Given the description of an element on the screen output the (x, y) to click on. 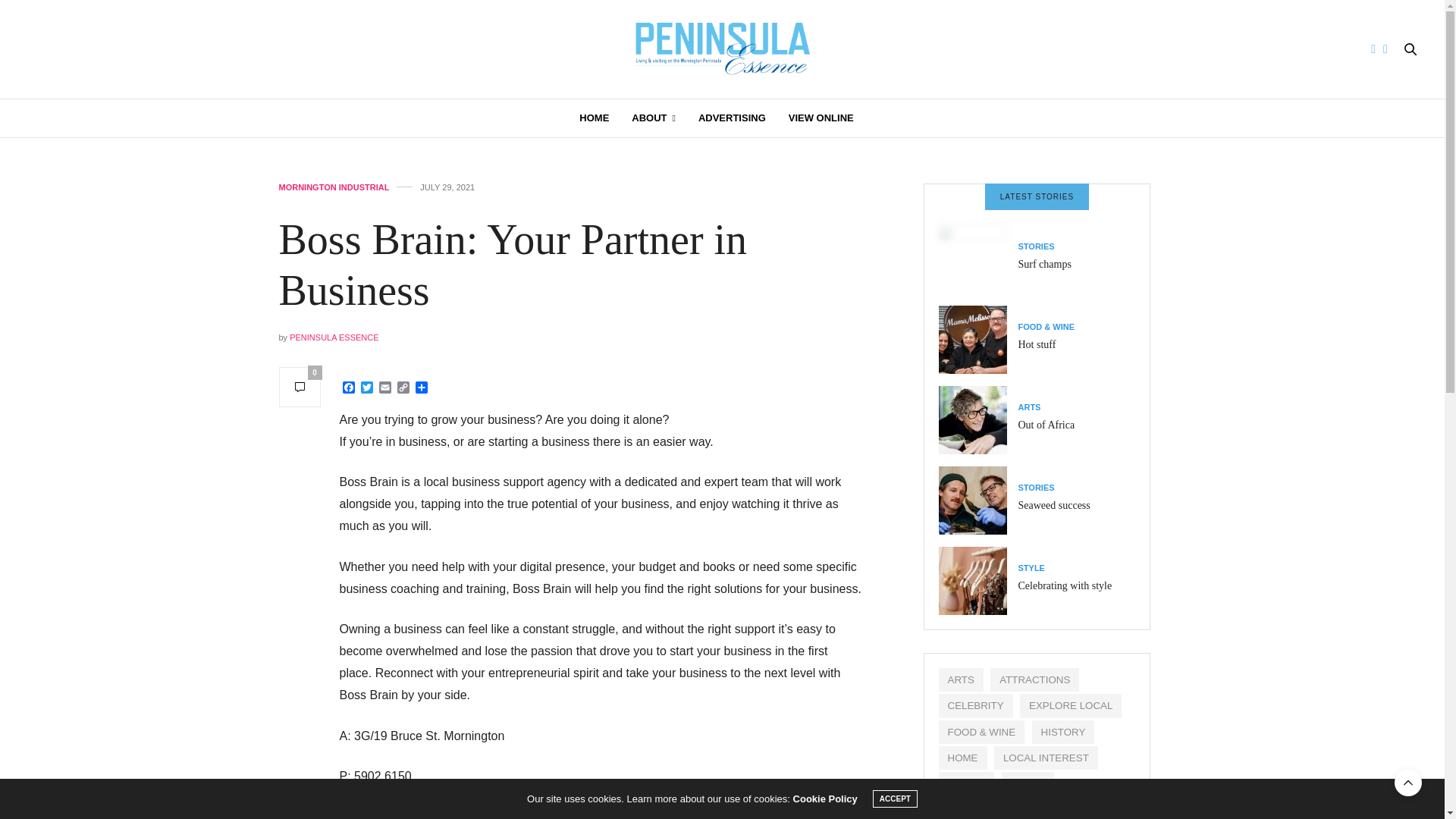
Email (384, 388)
Copy Link (403, 388)
Facebook (348, 388)
VIEW ONLINE (821, 118)
Copy Link (403, 388)
ADVERTISING (731, 118)
Posts by Peninsula Essence (333, 337)
PENINSULA ESSENCE (333, 337)
peninsula essence (721, 49)
Facebook (348, 388)
